Given the description of an element on the screen output the (x, y) to click on. 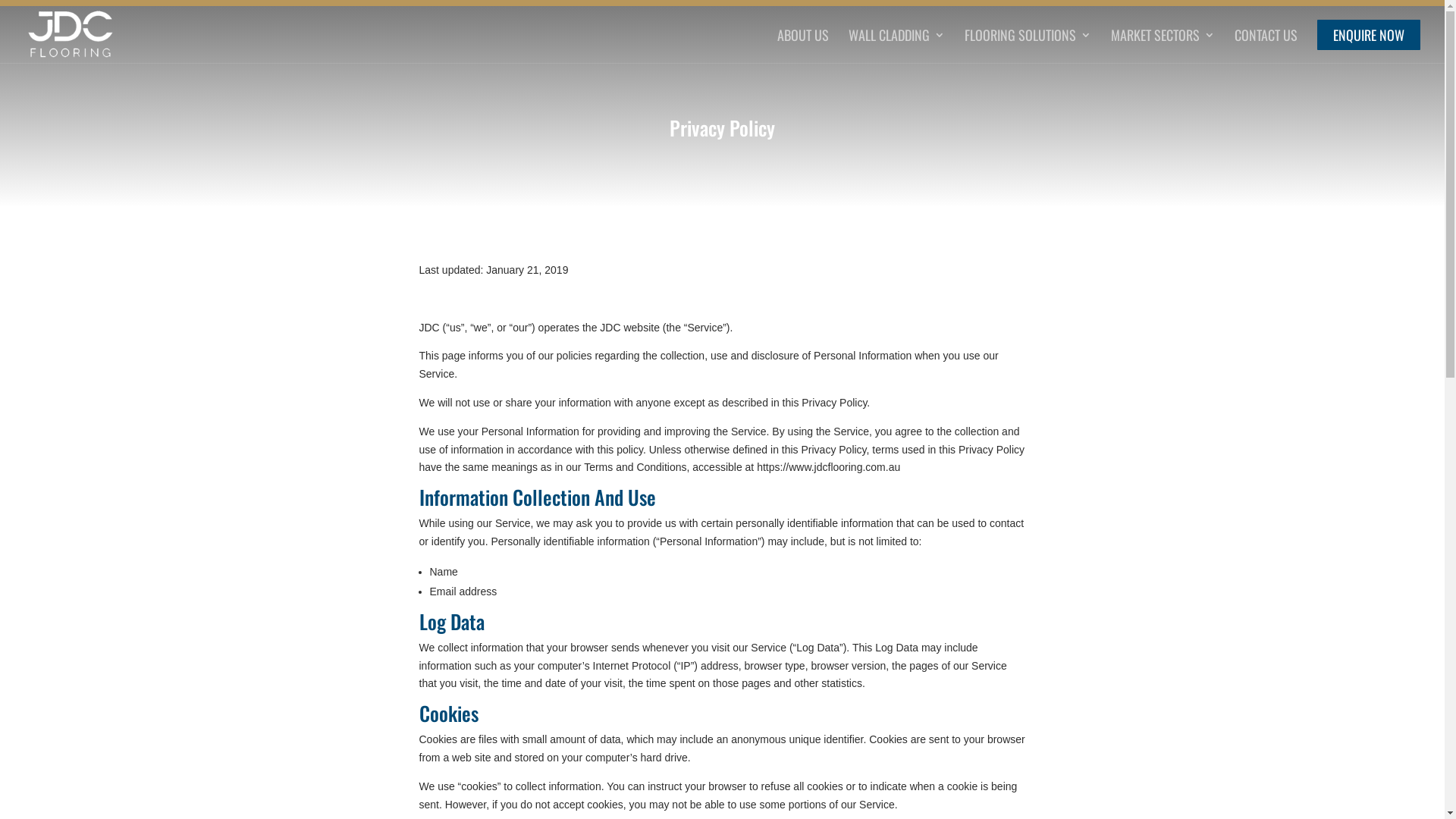
WALL CLADDING Element type: text (896, 45)
ENQUIRE NOW Element type: text (1368, 45)
ABOUT US Element type: text (802, 45)
MARKET SECTORS Element type: text (1162, 45)
CONTACT US Element type: text (1265, 45)
FLOORING SOLUTIONS Element type: text (1027, 45)
